Given the description of an element on the screen output the (x, y) to click on. 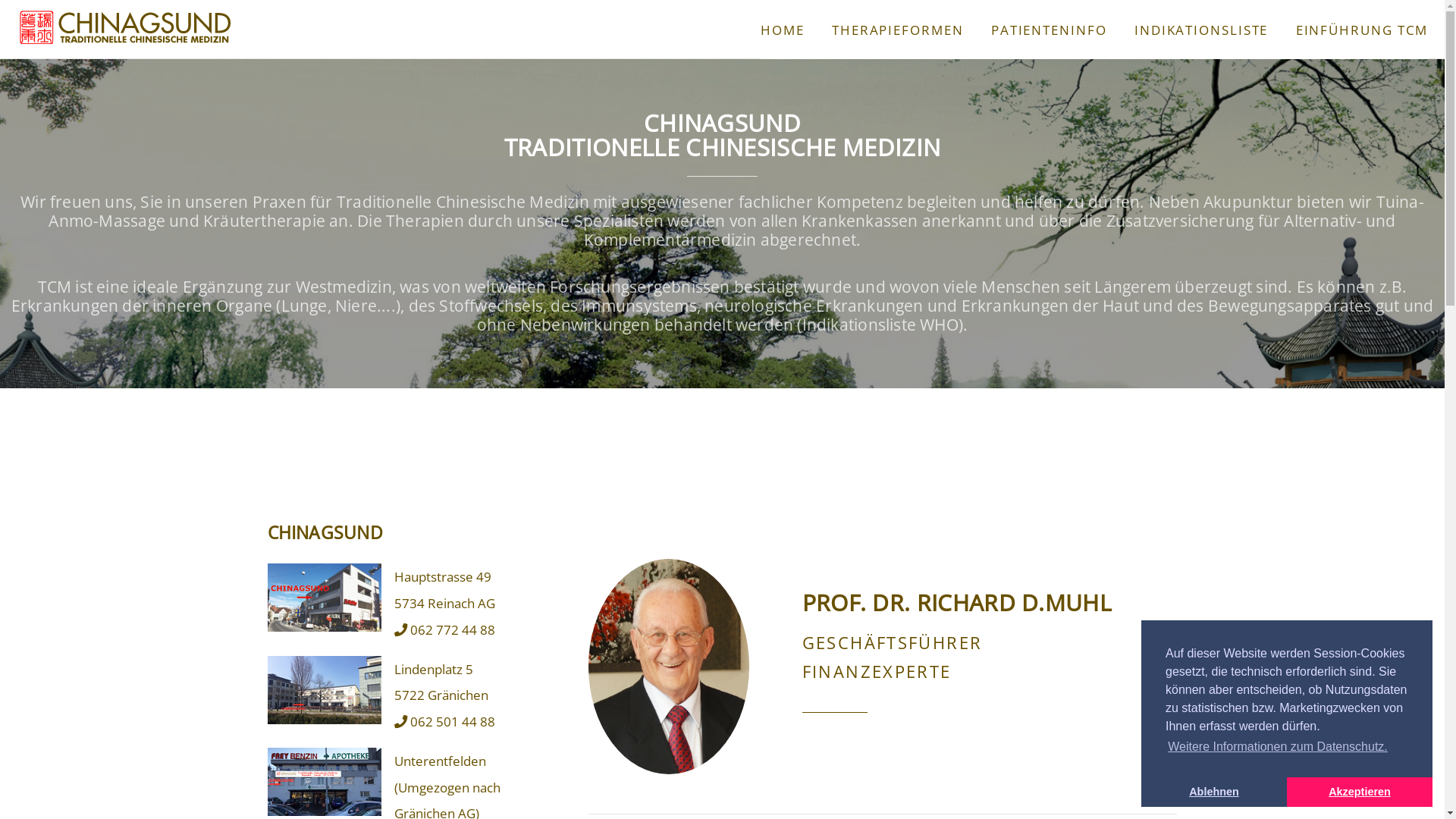
 062 501 44 88 Element type: text (444, 721)
 062 772 44 88 Element type: text (444, 629)
Ablehnen Element type: text (1213, 791)
HOME Element type: text (782, 29)
Weitere Informationen zum Datenschutz. Element type: text (1277, 746)
INDIKATIONSLISTE Element type: text (1201, 29)
PATIENTENINFO Element type: text (1049, 29)
Akzeptieren Element type: text (1359, 791)
THERAPIEFORMEN Element type: text (897, 29)
